Given the description of an element on the screen output the (x, y) to click on. 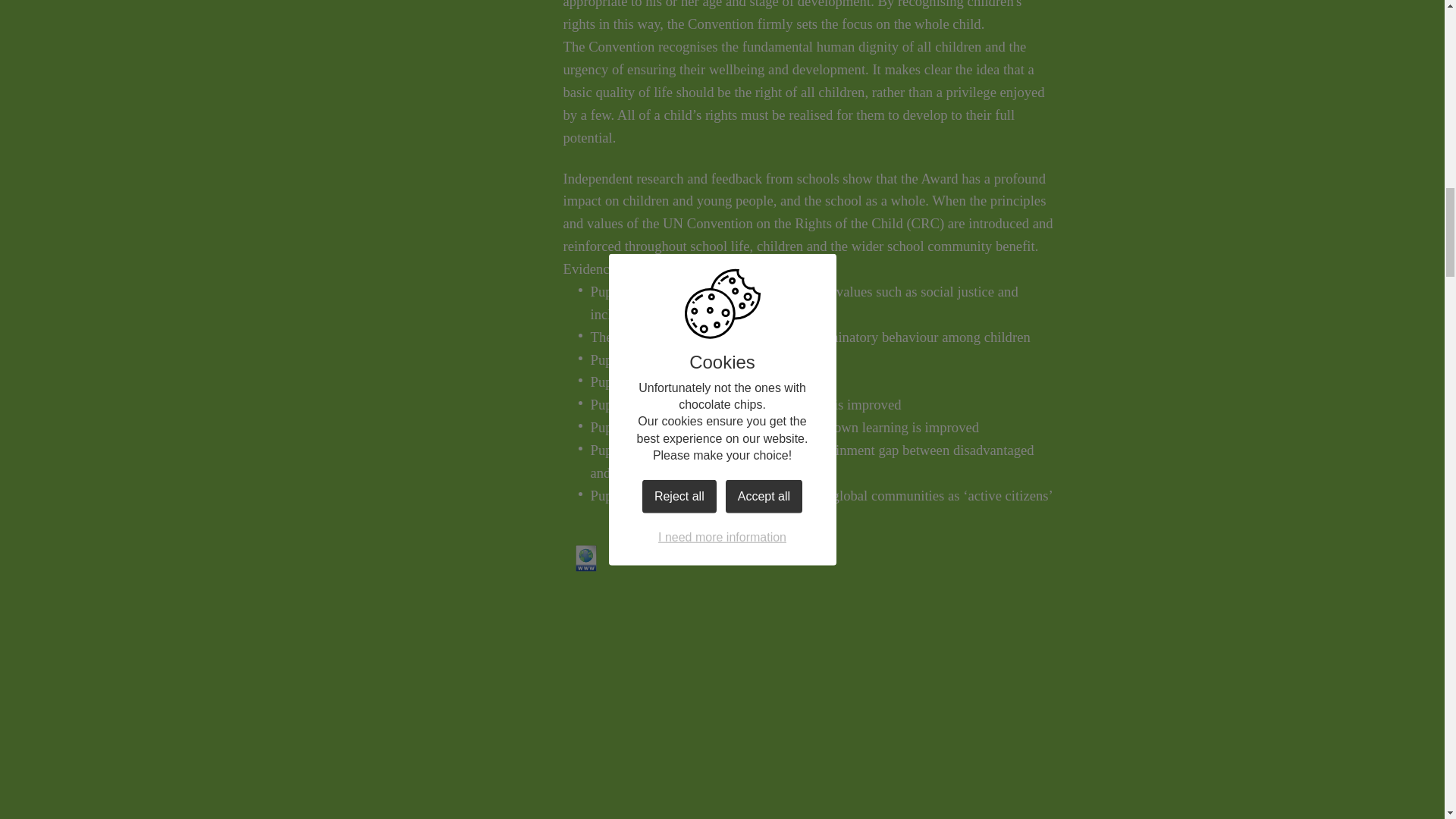
An Overview of the Rights of a Child (678, 557)
